Given the description of an element on the screen output the (x, y) to click on. 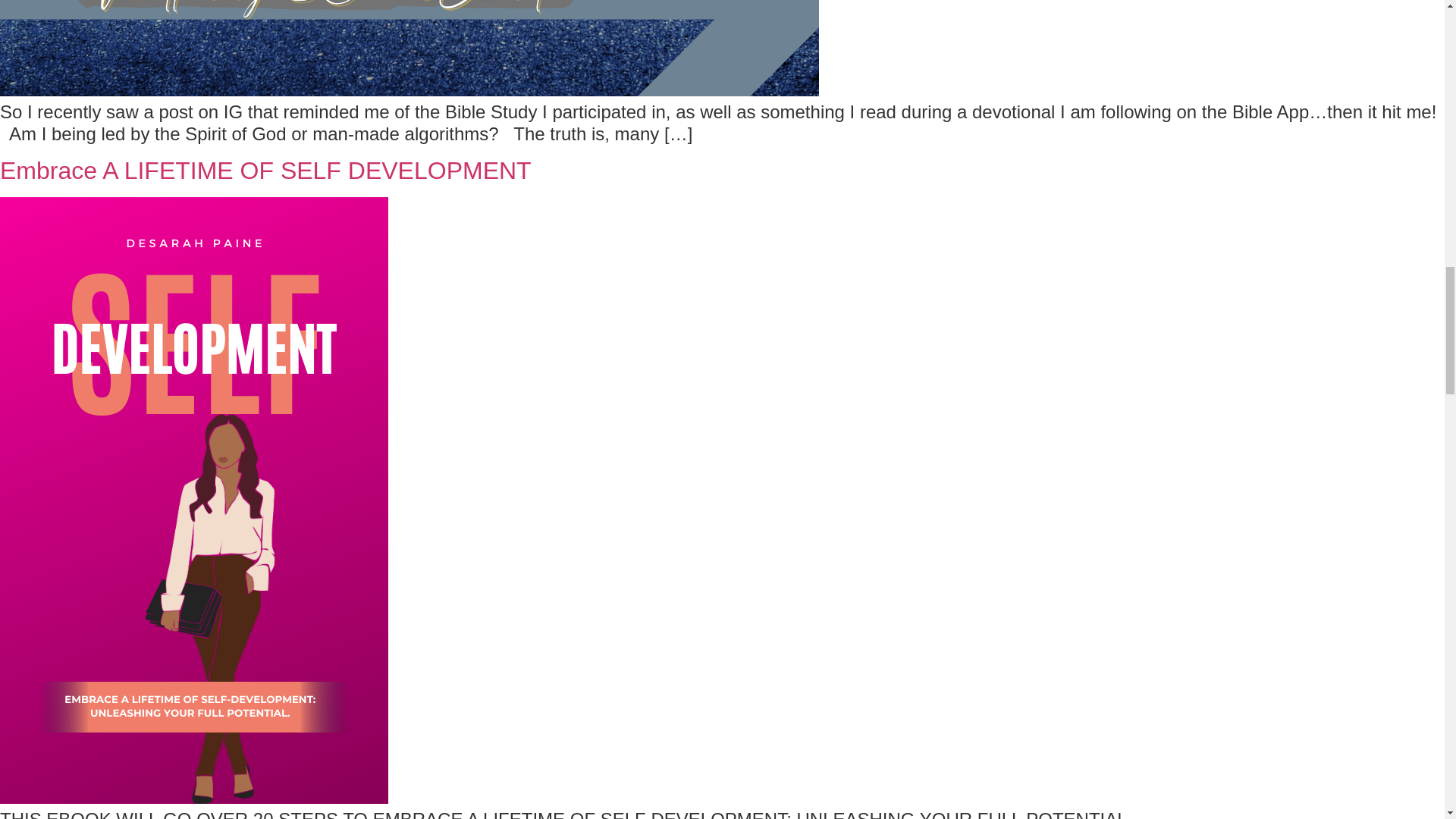
Embrace A LIFETIME OF SELF DEVELOPMENT (265, 170)
